Given the description of an element on the screen output the (x, y) to click on. 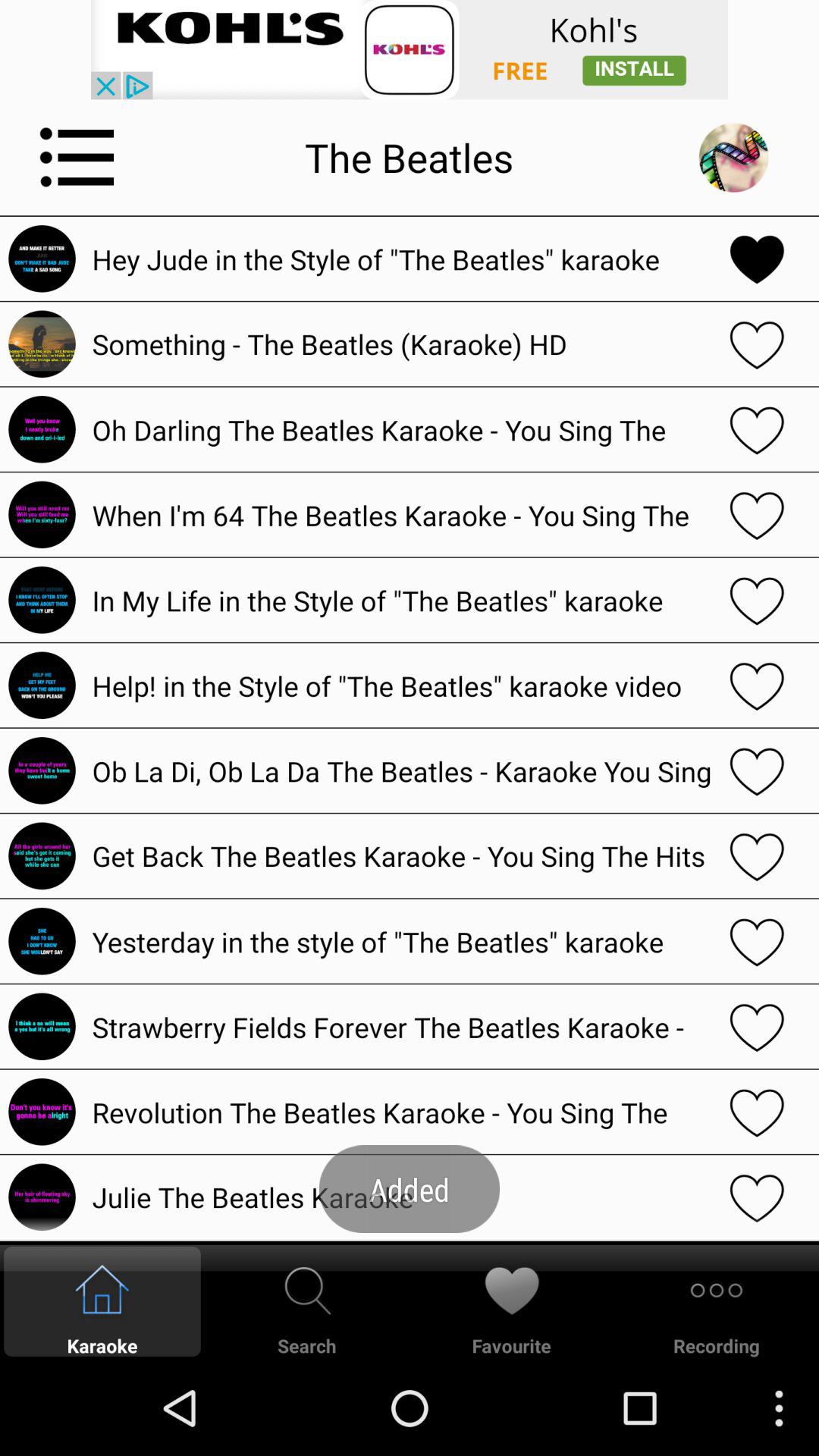
add to favorites (756, 770)
